Given the description of an element on the screen output the (x, y) to click on. 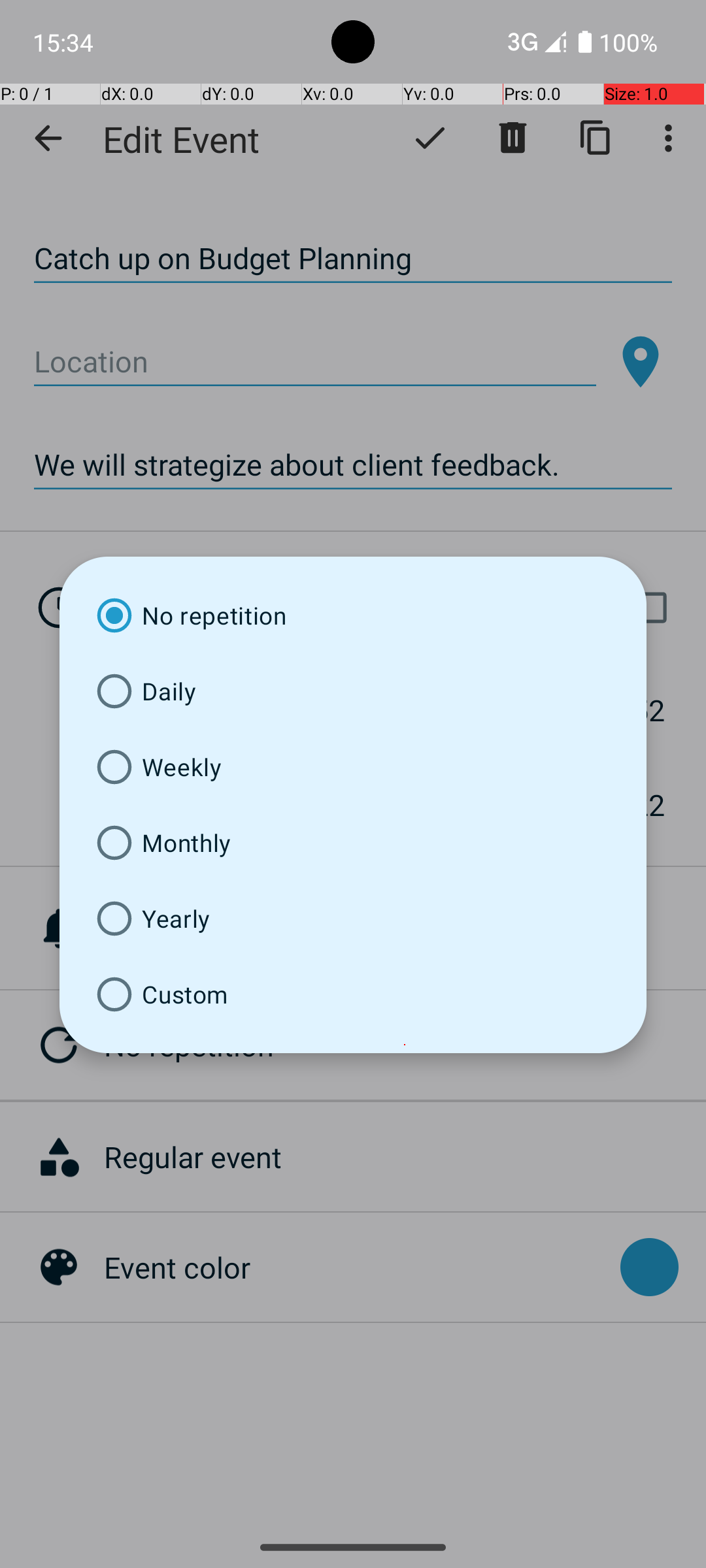
Daily Element type: android.widget.RadioButton (352, 691)
Weekly Element type: android.widget.RadioButton (352, 766)
Monthly Element type: android.widget.RadioButton (352, 842)
Yearly Element type: android.widget.RadioButton (352, 918)
Custom Element type: android.widget.RadioButton (352, 994)
